Given the description of an element on the screen output the (x, y) to click on. 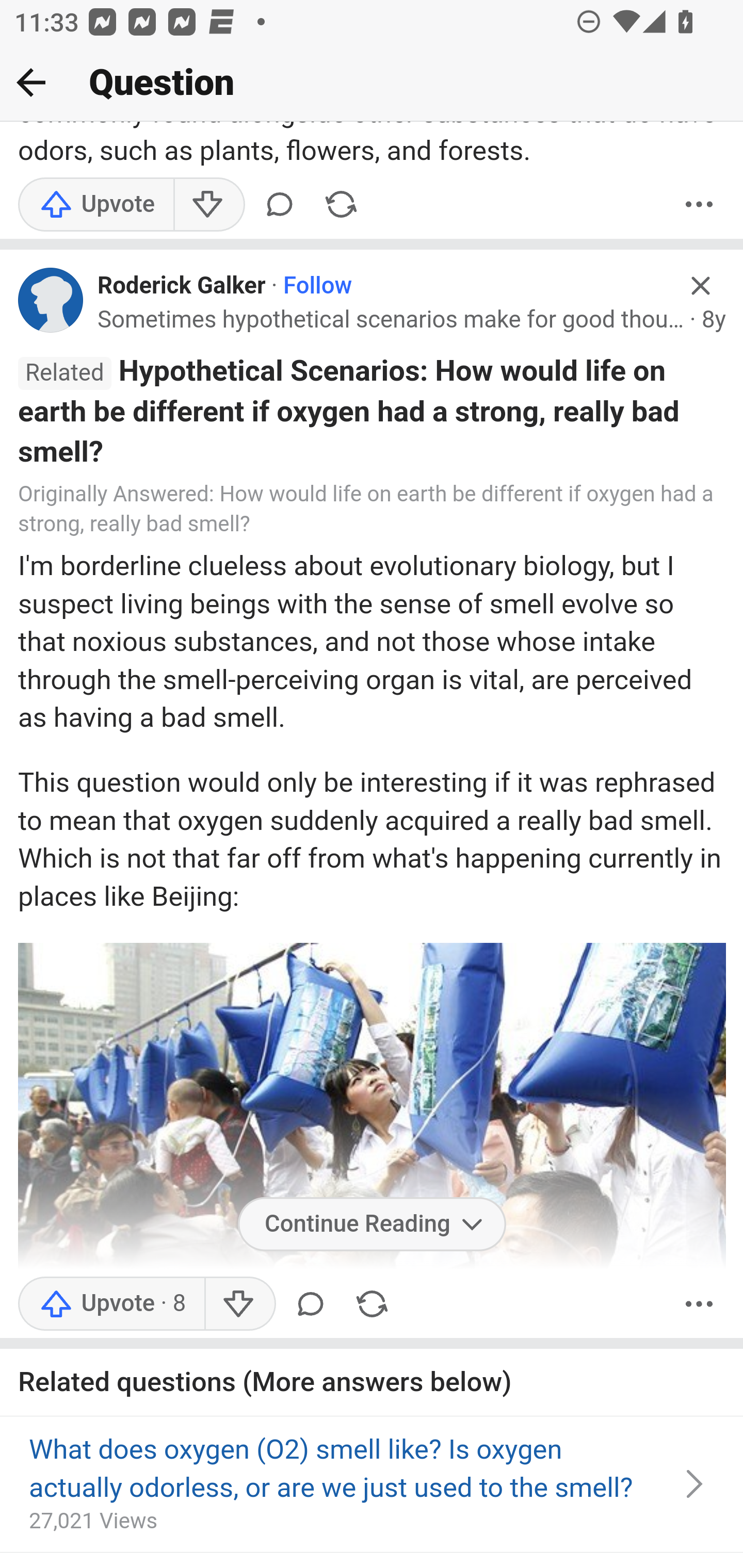
Back (30, 82)
Upvote (95, 205)
Downvote (208, 205)
Comment (278, 205)
Share (341, 205)
More (699, 205)
Hide (700, 286)
Profile photo for Roderick Galker (50, 300)
Roderick Galker (182, 287)
Follow (317, 287)
Continue Reading (371, 1224)
